Given the description of an element on the screen output the (x, y) to click on. 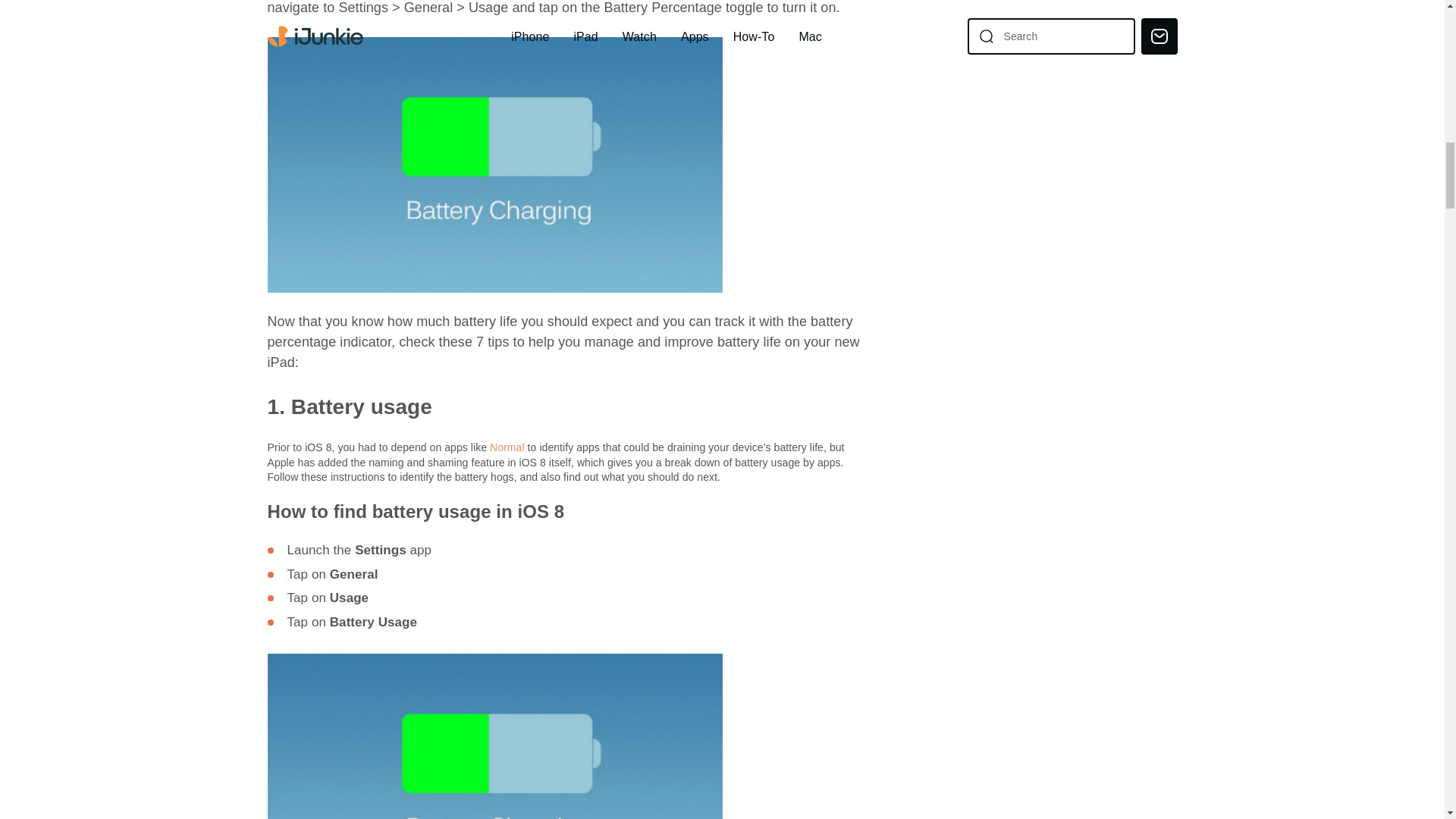
Normal (506, 447)
